Given the description of an element on the screen output the (x, y) to click on. 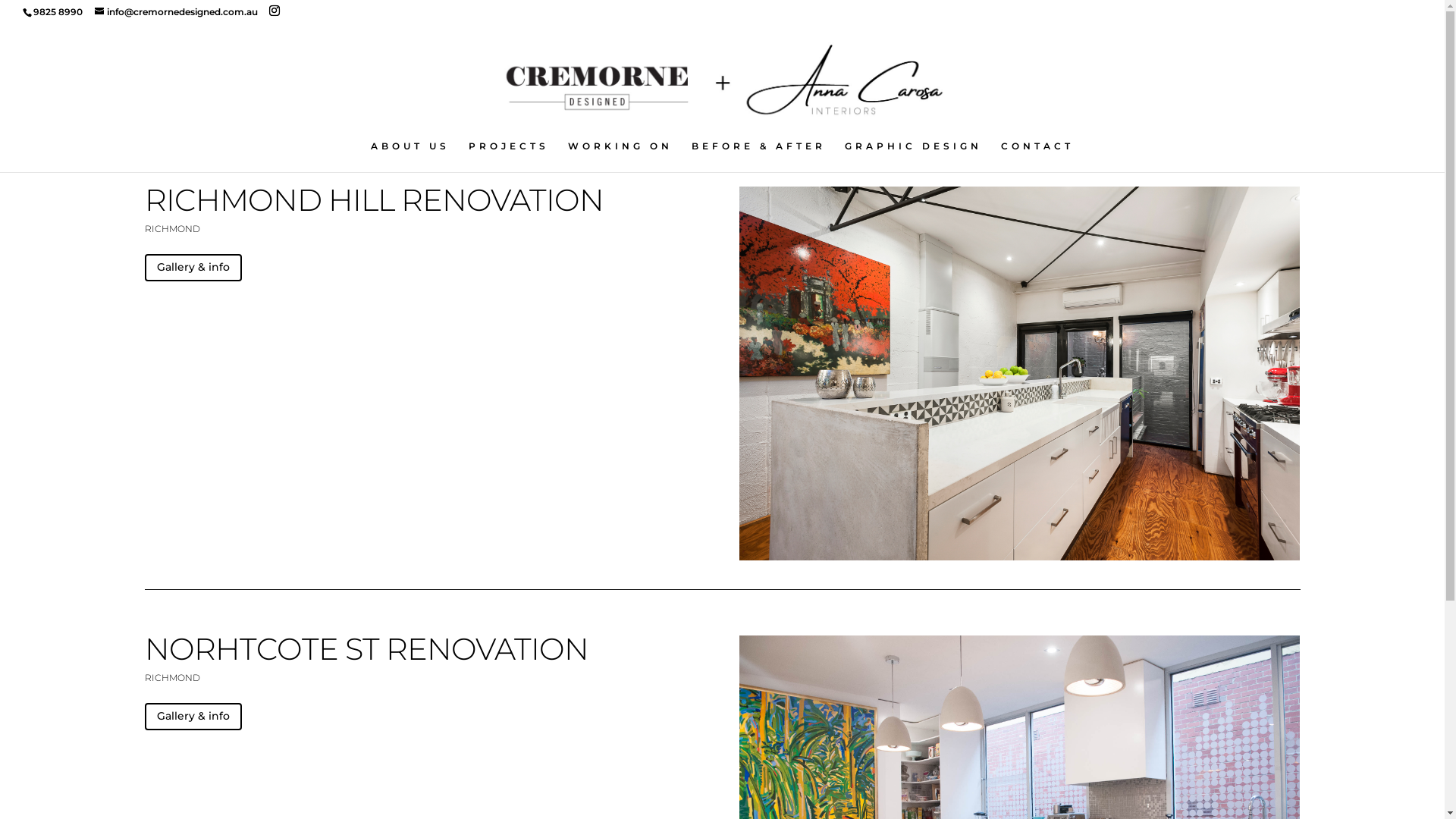
PROJECTS Element type: text (508, 156)
Gallery & info Element type: text (192, 716)
info@cremornedesigned.com.au Element type: text (175, 11)
BEFORE & AFTER Element type: text (758, 156)
WORKING ON Element type: text (619, 156)
GRAPHIC DESIGN Element type: text (913, 156)
CONTACT Element type: text (1037, 156)
ABOUT US Element type: text (409, 156)
Gallery & info Element type: text (192, 267)
